Given the description of an element on the screen output the (x, y) to click on. 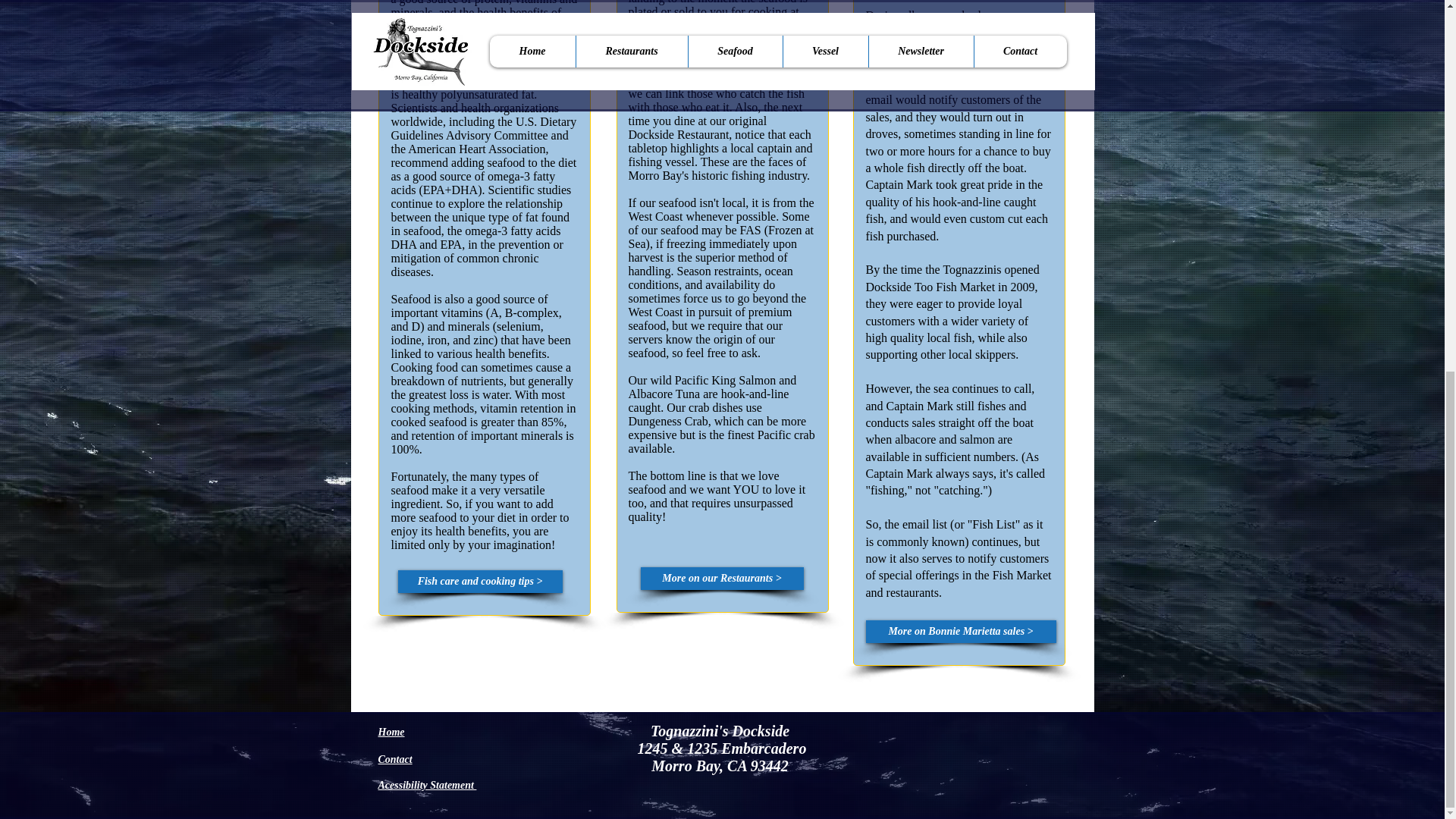
Home (390, 731)
Contact (394, 758)
Acessibility Statement  (426, 784)
